Given the description of an element on the screen output the (x, y) to click on. 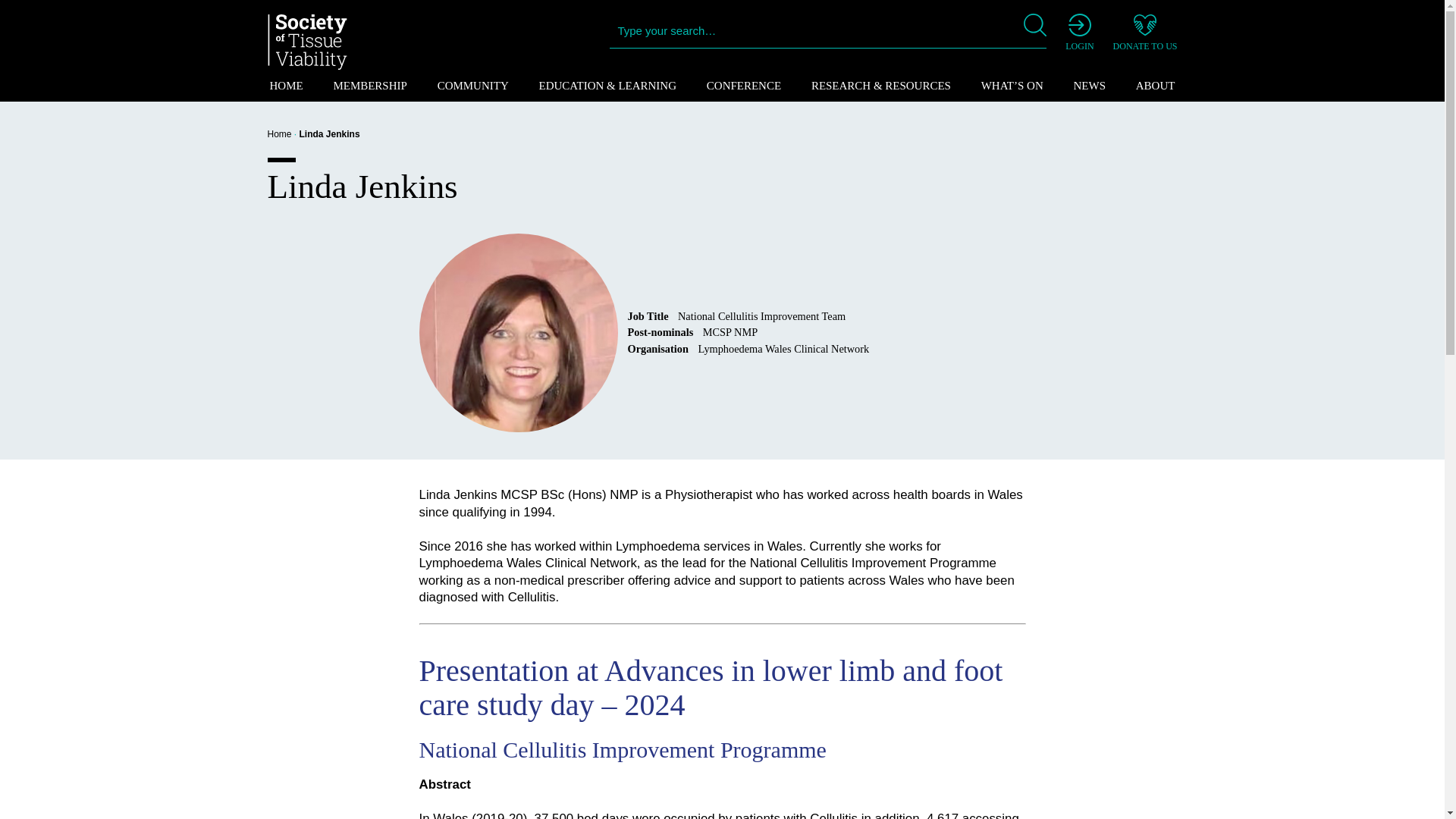
LOGIN (1079, 32)
Home (278, 133)
NEWS (1089, 85)
CONFERENCE (743, 85)
DONATE TO US (1145, 32)
Society of Tissue Viability (306, 41)
Search (22, 22)
MEMBERSHIP (369, 85)
HOME (285, 85)
COMMUNITY (473, 85)
ABOUT (1155, 85)
